Given the description of an element on the screen output the (x, y) to click on. 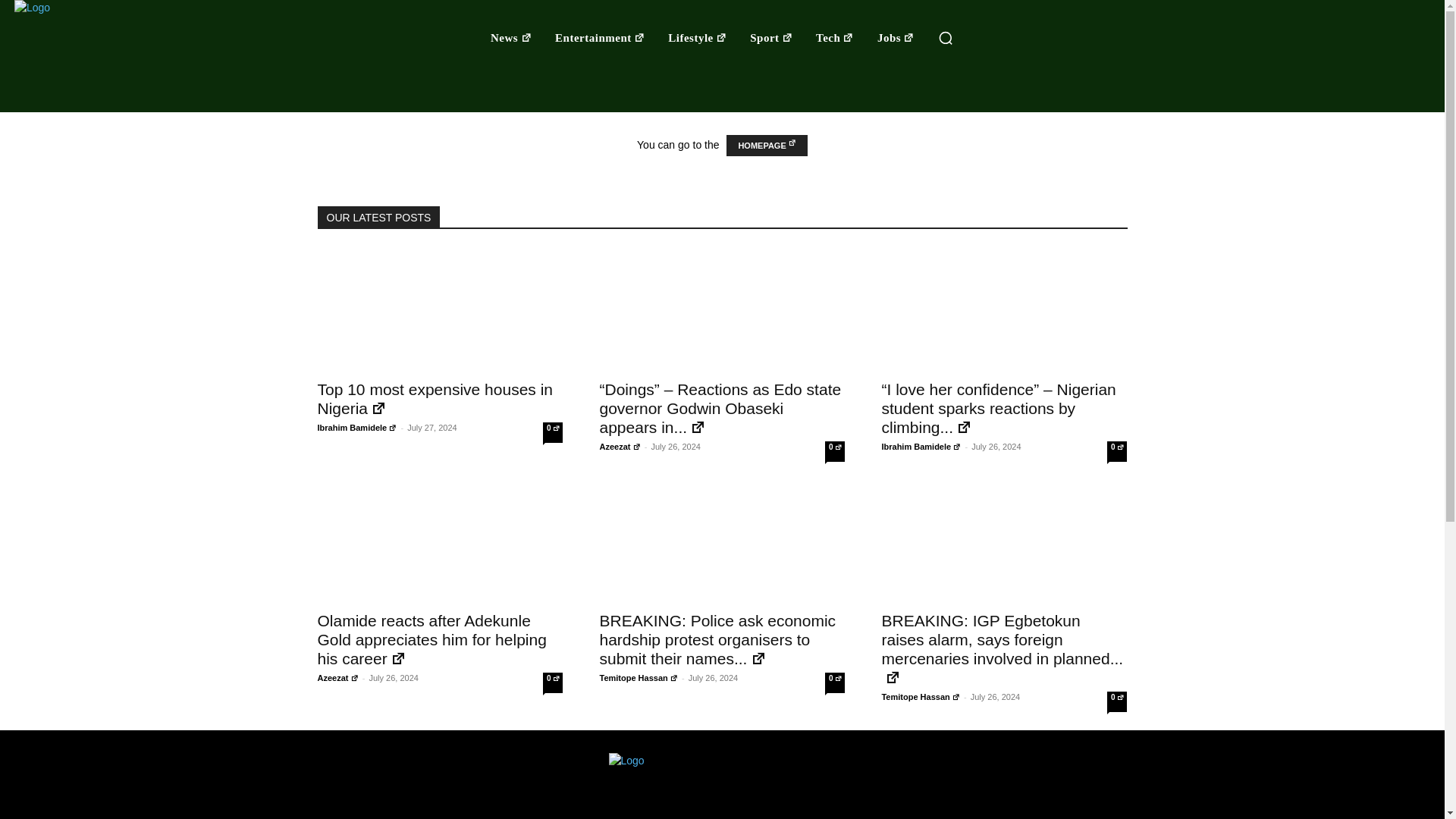
News (511, 38)
Entertainment (599, 38)
Sport (771, 38)
Tech (834, 38)
Lifestyle (698, 38)
